Given the description of an element on the screen output the (x, y) to click on. 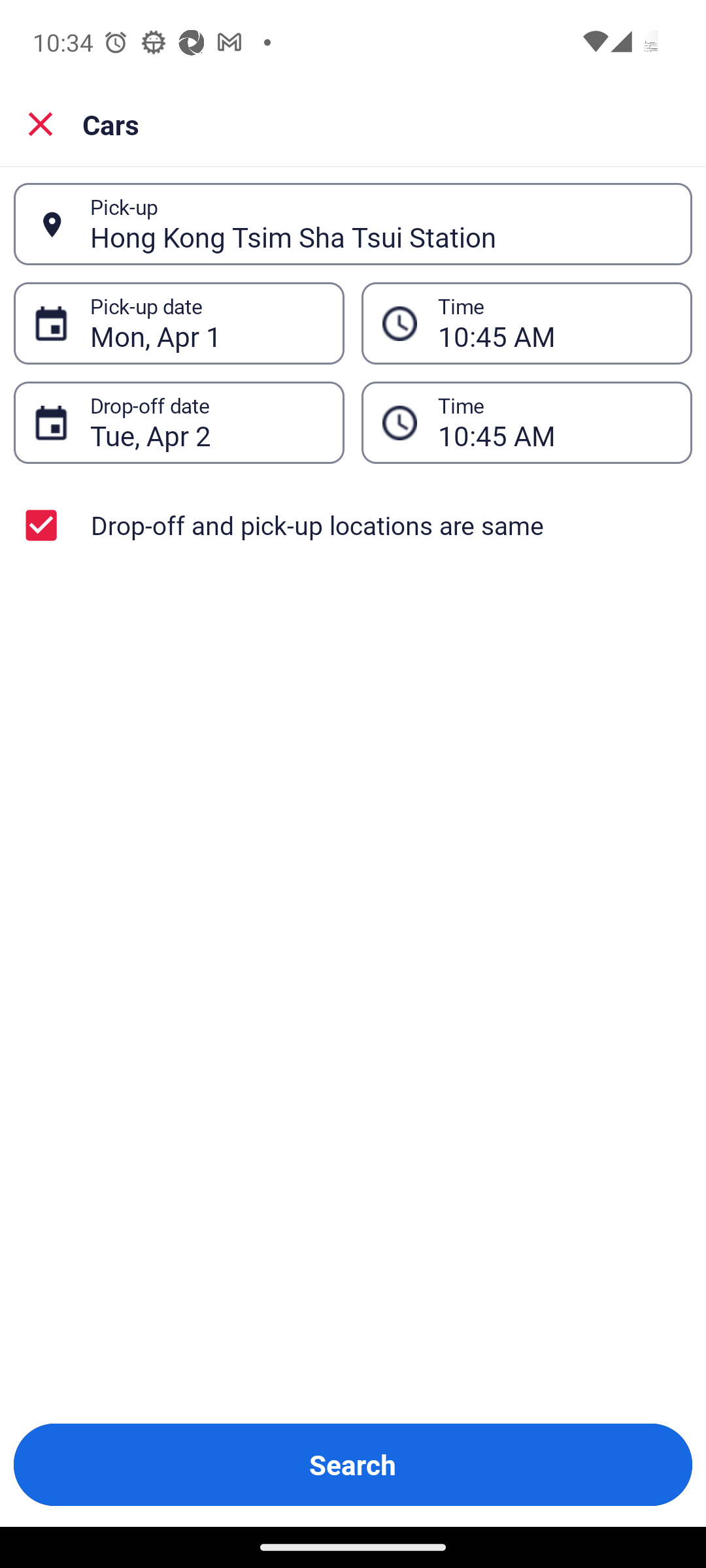
Close search screen (41, 124)
Hong Kong Tsim Sha Tsui Station (380, 223)
Mon, Apr 1 (206, 322)
10:45 AM (554, 322)
Tue, Apr 2 (206, 423)
10:45 AM (554, 423)
Drop-off and pick-up locations are same (352, 525)
Search Button Search (352, 1464)
